Given the description of an element on the screen output the (x, y) to click on. 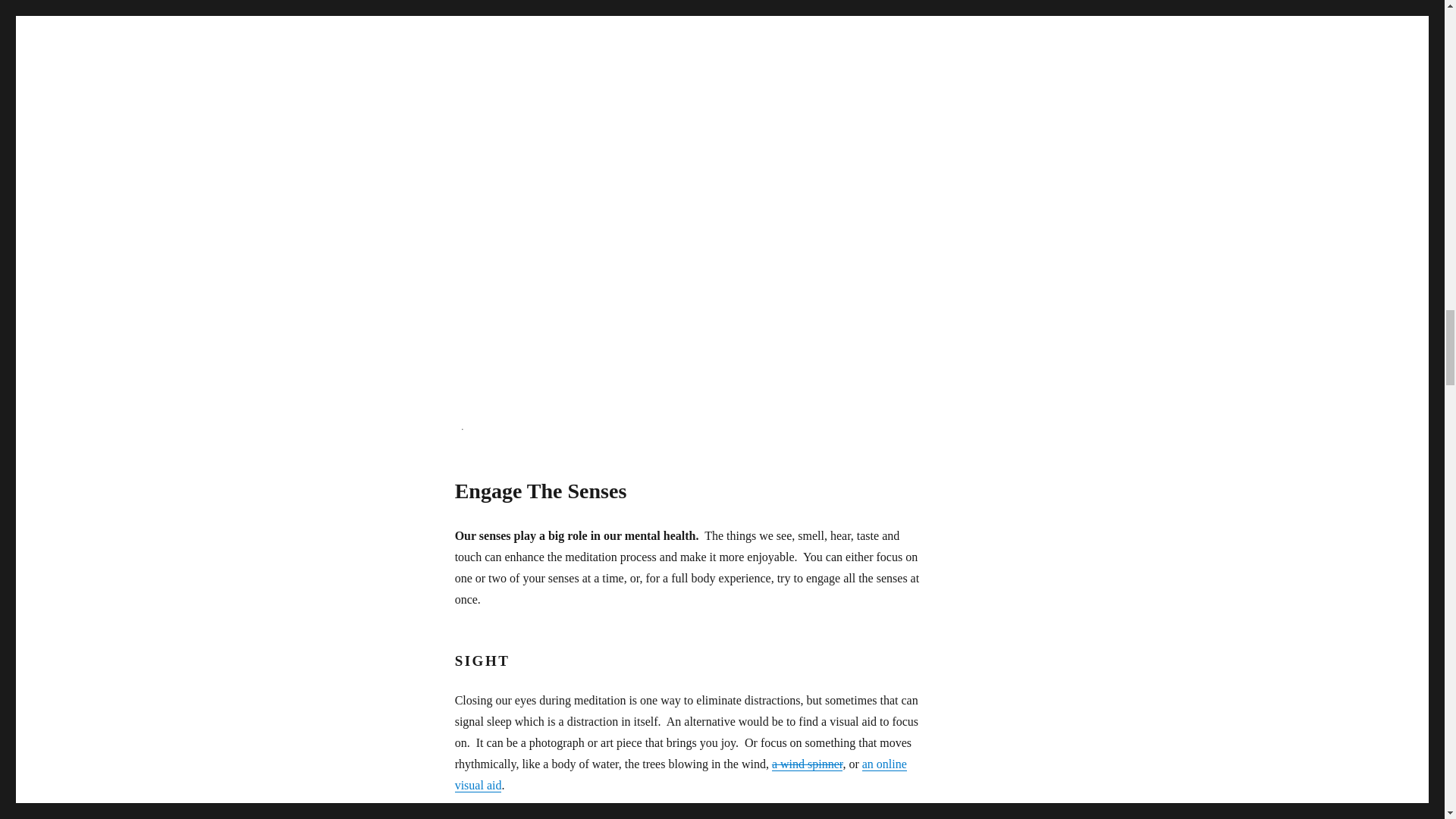
a wind spinner (807, 763)
an online visual aid (680, 774)
